Given the description of an element on the screen output the (x, y) to click on. 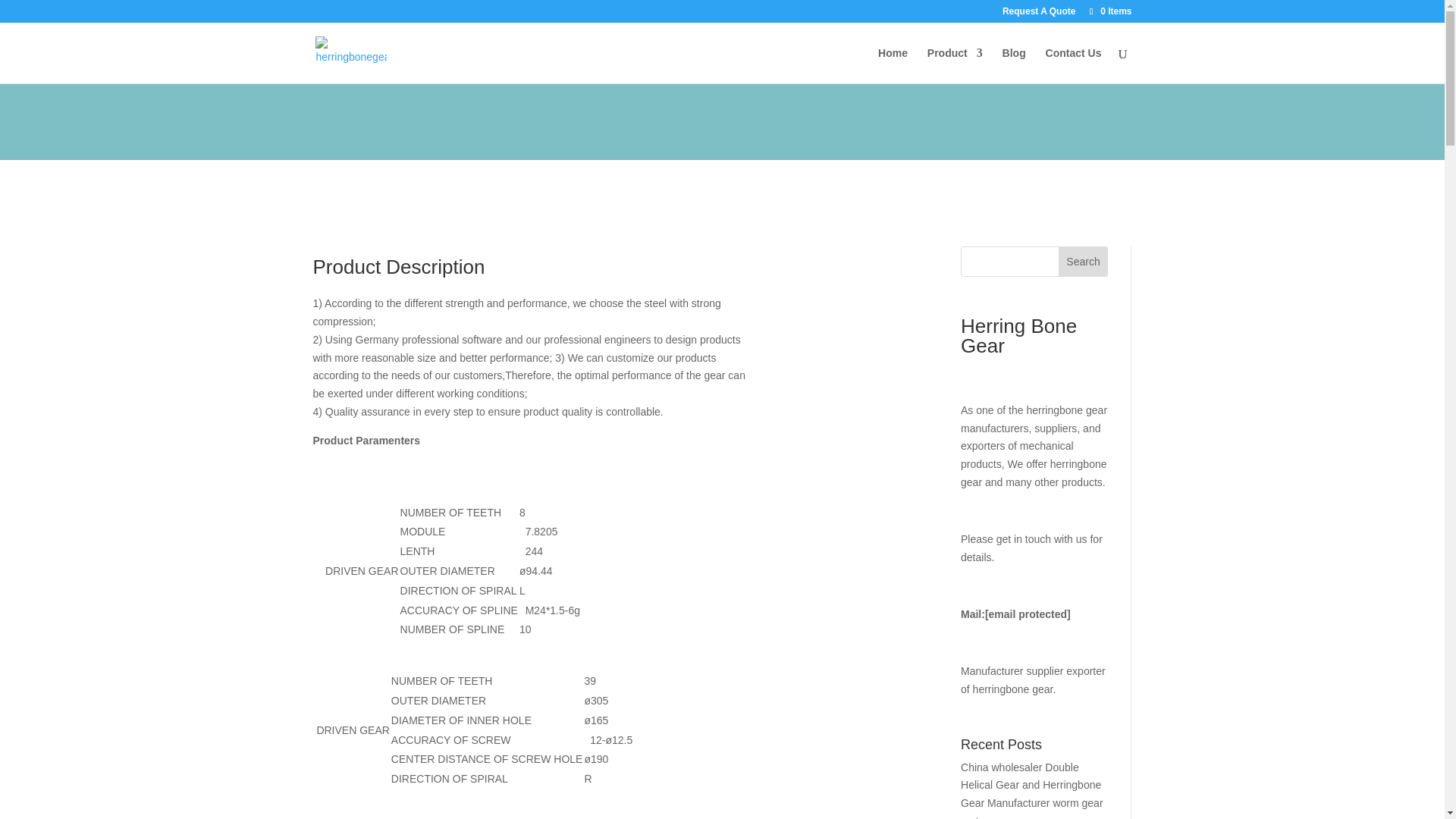
Search (1083, 261)
Blog (1014, 65)
Request A Quote (1039, 14)
Home (892, 65)
Contact Us (1073, 65)
0 Items (1108, 10)
Search (1083, 261)
Product (954, 65)
